Given the description of an element on the screen output the (x, y) to click on. 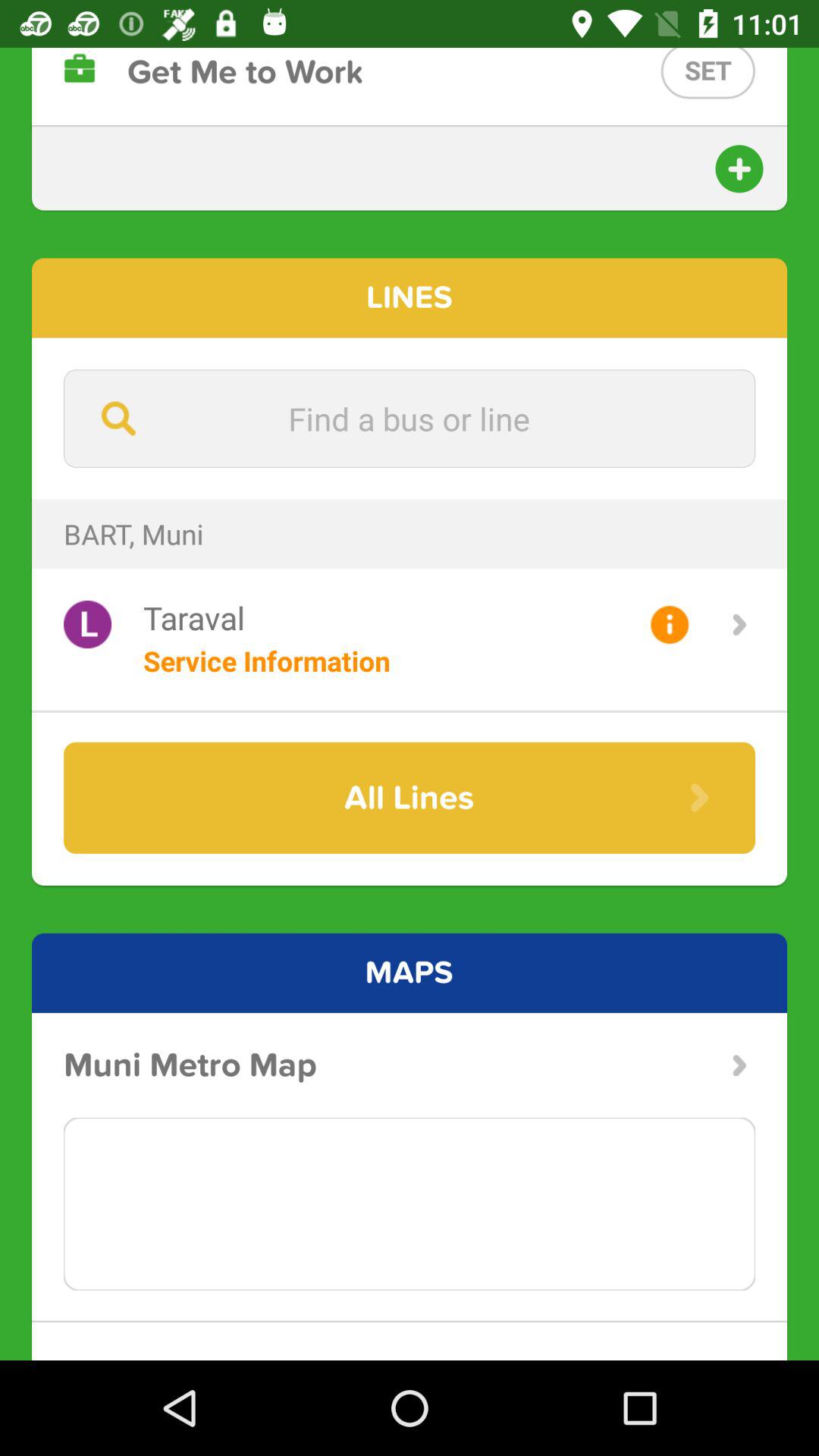
click on the logo beside taraval (87, 623)
